Given the description of an element on the screen output the (x, y) to click on. 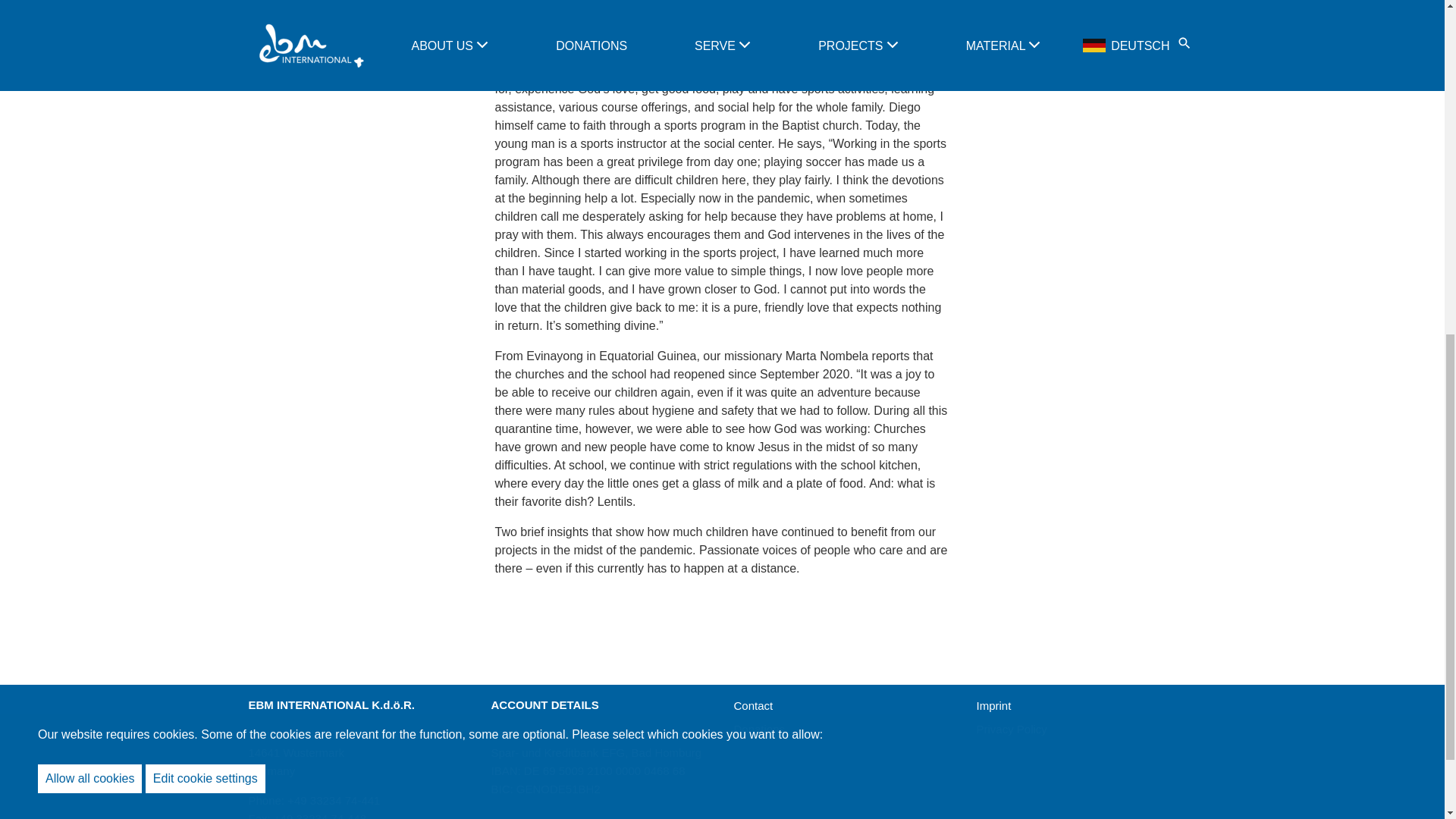
Imprint (993, 705)
SUBSCRIBE TO NEWSLETTER (357, 1)
DONATE NOW (1085, 1)
Privacy Policy (1011, 728)
Privacy Policy (1011, 728)
Contact (753, 705)
Contact (753, 705)
Imprint (993, 705)
Donations (759, 728)
Donations (759, 728)
